Given the description of an element on the screen output the (x, y) to click on. 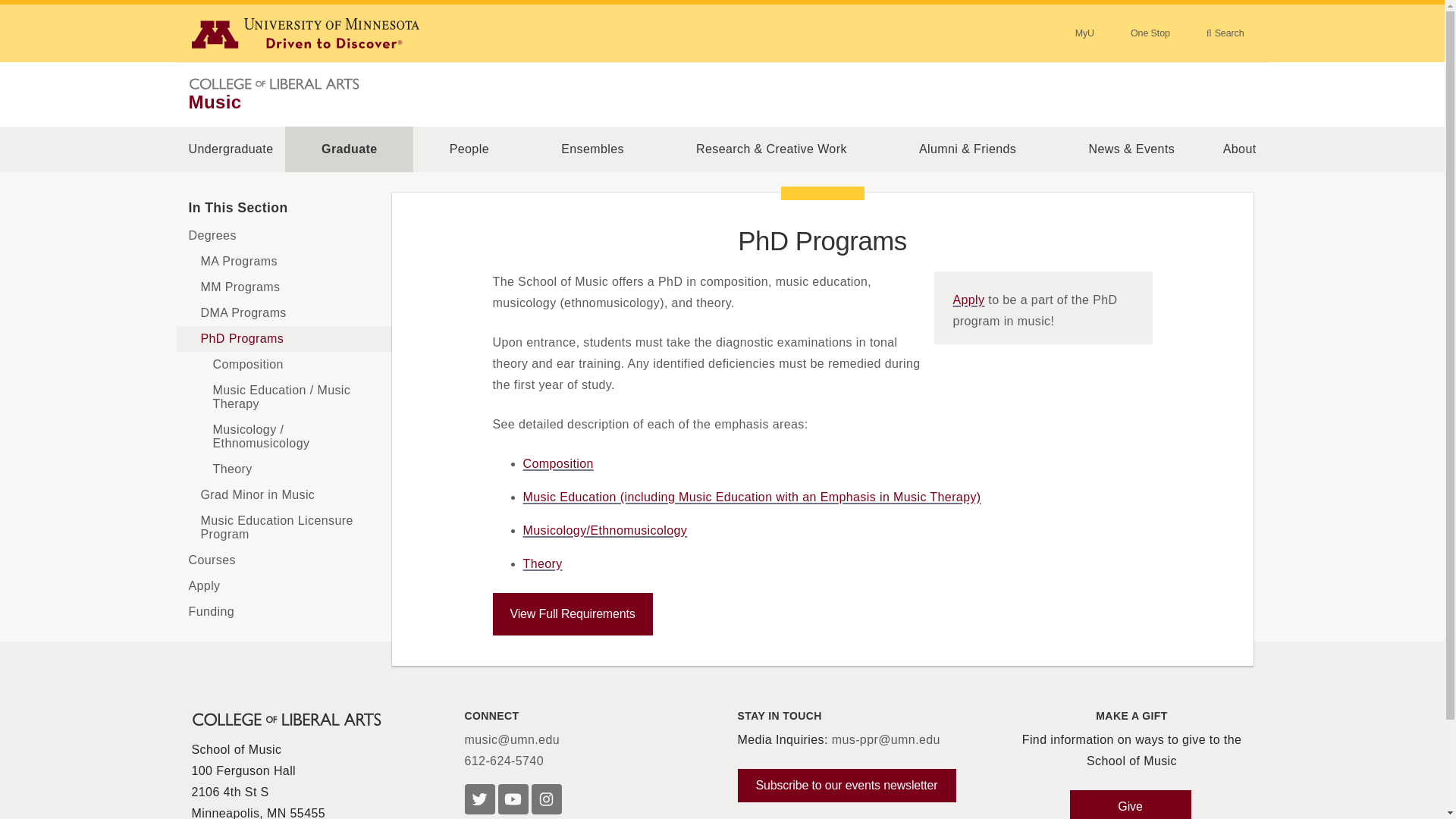
Music (214, 101)
612-624-5740 (503, 760)
Courses (283, 560)
DMA Programs (283, 312)
Apply (968, 299)
MyU (1084, 32)
Theory (283, 469)
Graduate (349, 148)
MA Programs (283, 261)
Grad Minor in Music (283, 494)
